Given the description of an element on the screen output the (x, y) to click on. 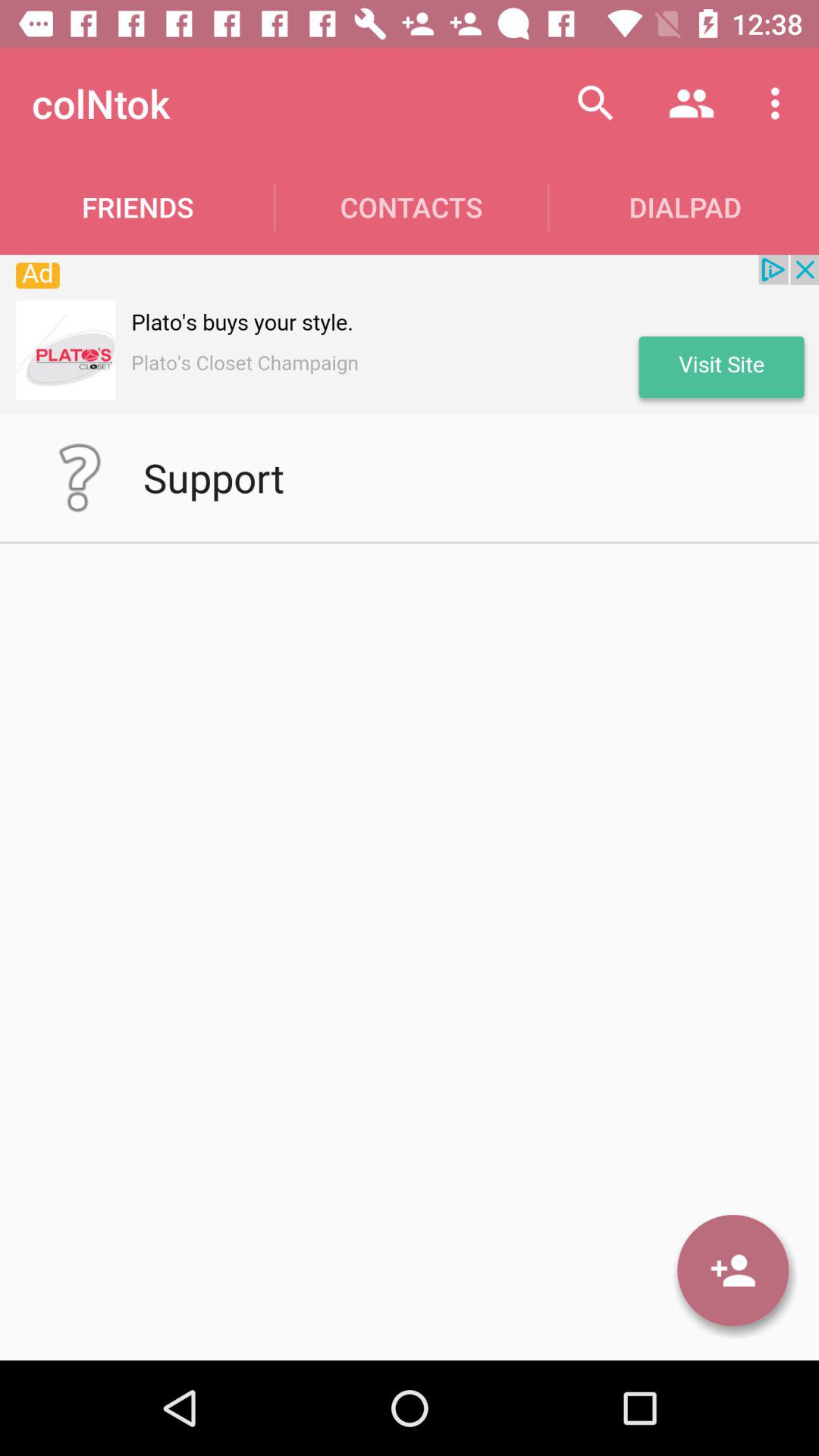
advertisement (409, 334)
